Given the description of an element on the screen output the (x, y) to click on. 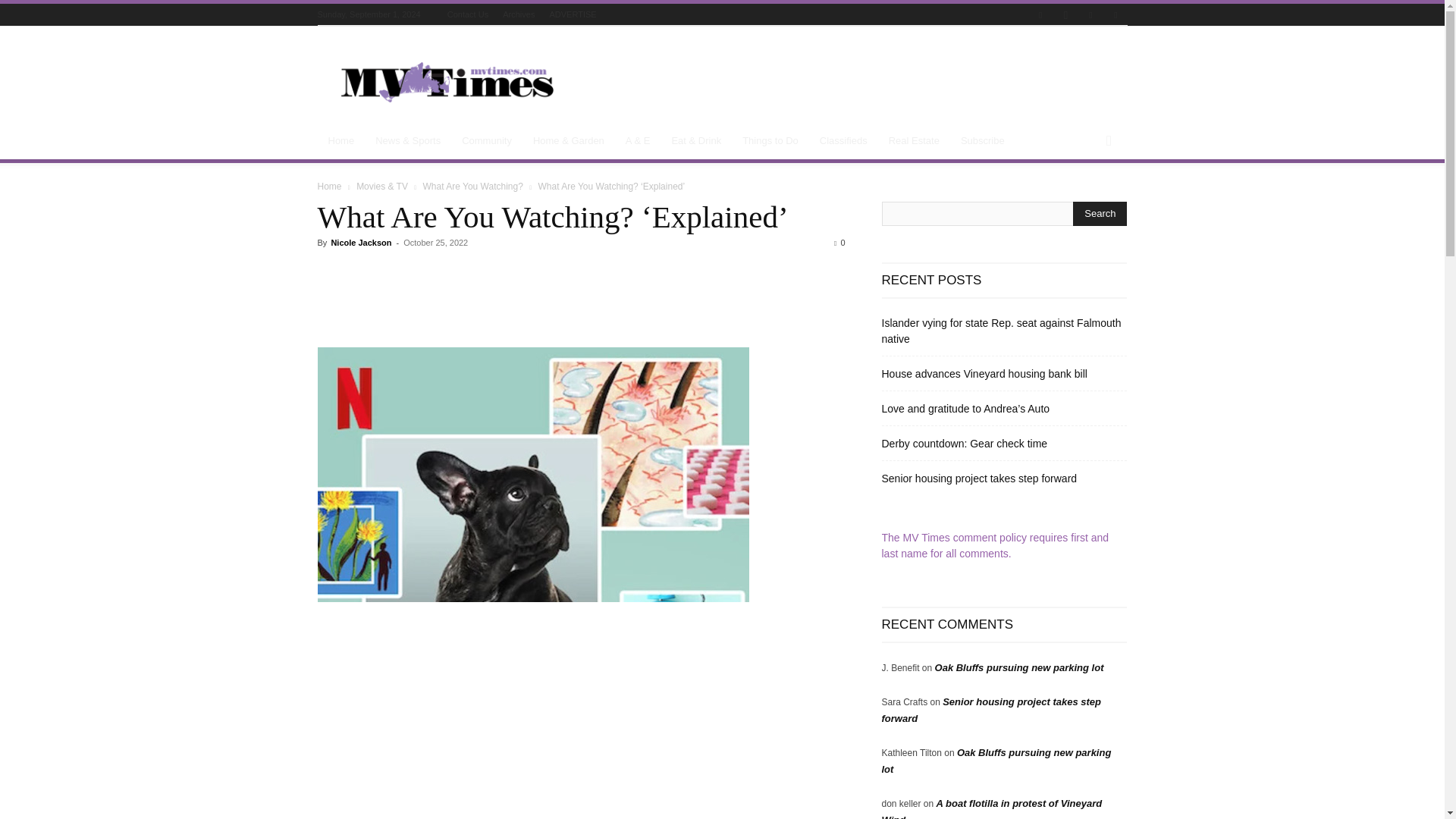
Search (1099, 213)
Real Estate (913, 140)
Instagram (1065, 14)
Facebook (1040, 14)
View all posts in What Are You Watching? (472, 185)
Contact Us (466, 13)
Twitter (1090, 14)
Youtube (1114, 14)
Home (341, 140)
Archives (518, 13)
